Given the description of an element on the screen output the (x, y) to click on. 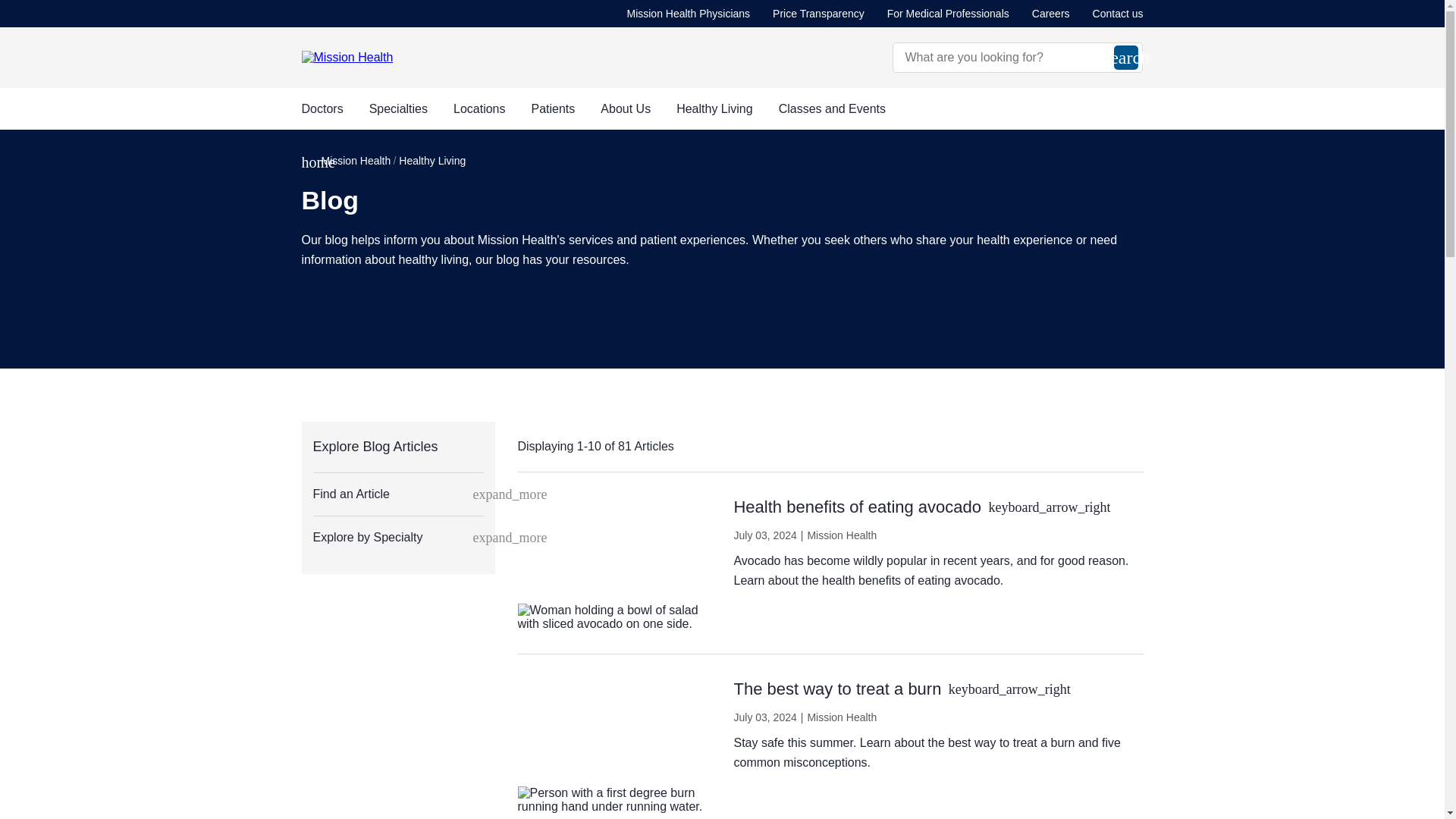
Price Transparency (818, 13)
Skip to Content (3, 3)
Mission Health Physicians (687, 13)
Contact us (1117, 13)
Doctors (322, 108)
For Medical Professionals (947, 13)
Careers (1051, 13)
search (1125, 57)
Specialties (398, 108)
